Given the description of an element on the screen output the (x, y) to click on. 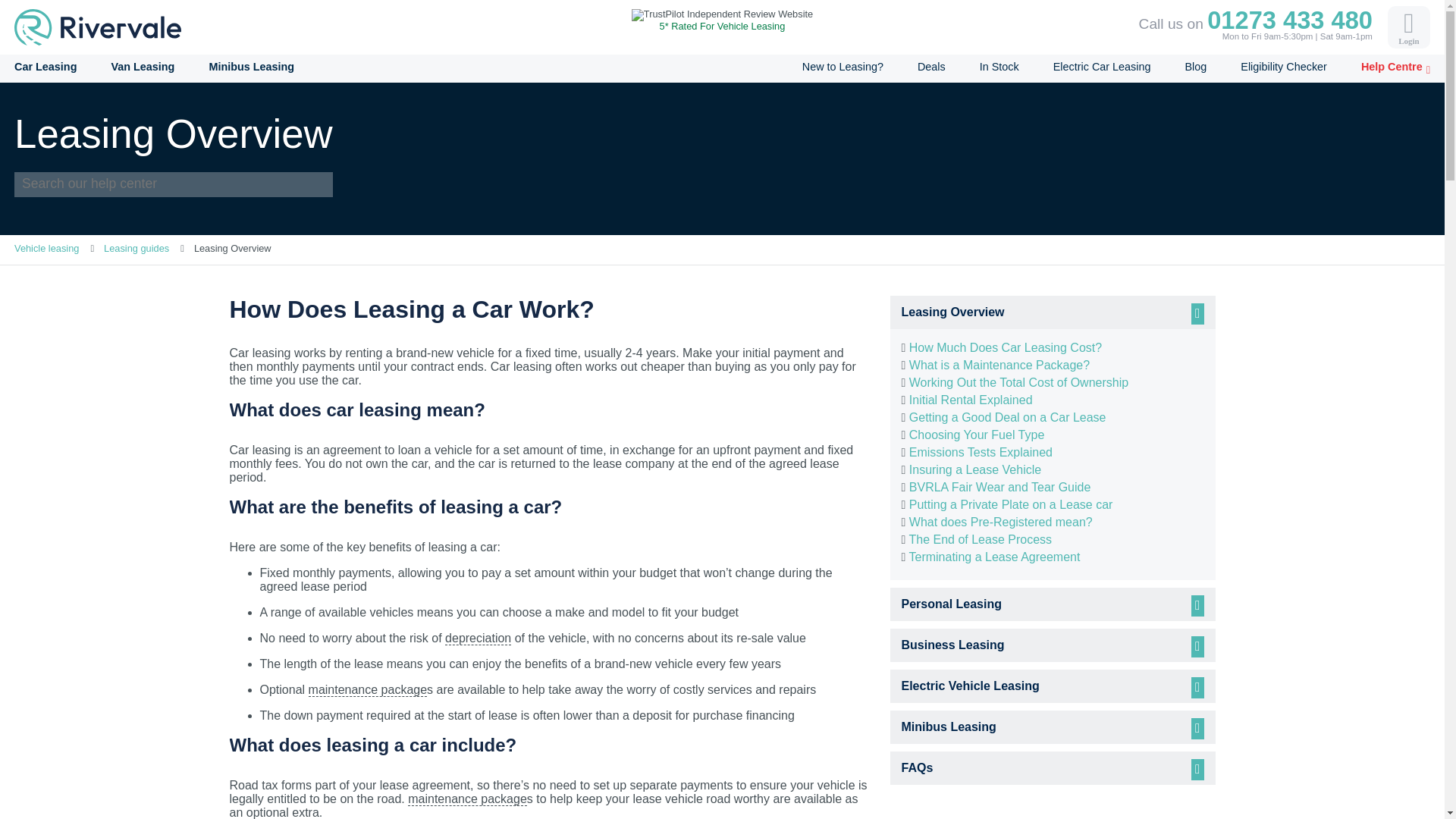
Vehicle leasing (46, 247)
Insuring a Lease Vehicle (974, 469)
What is a Maintenance Package? (998, 364)
What does Pre-Registered mean? (1000, 521)
01273 433 480 (1290, 19)
Choosing Your Fuel Type (976, 434)
BVRLA Fair Wear and Tear Guide (999, 486)
Electric Car Leasing (1101, 66)
The End of Lease Process (979, 539)
Getting a Good Deal on a Car Lease (1007, 417)
